Given the description of an element on the screen output the (x, y) to click on. 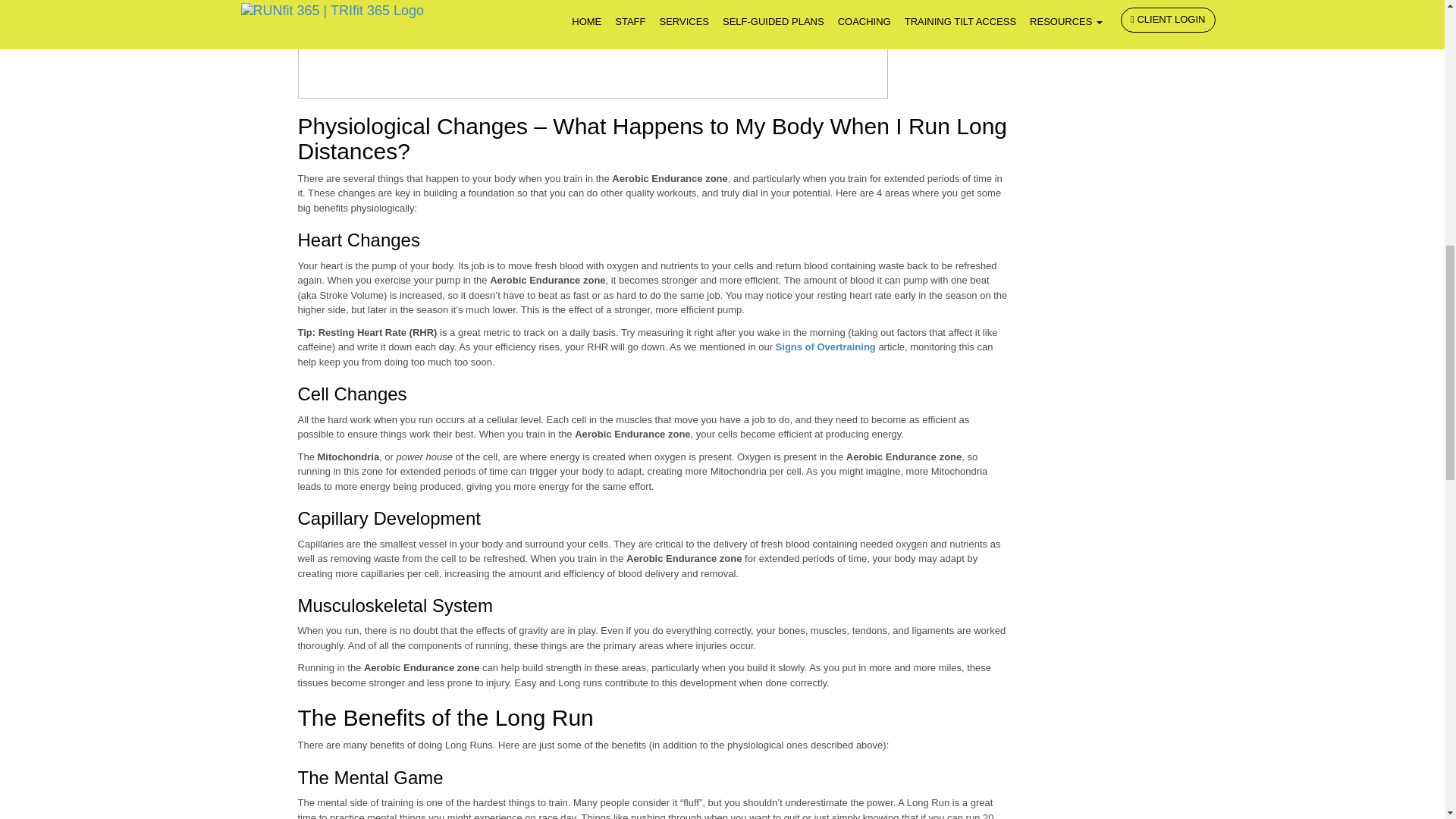
Signs of Overtraining (826, 346)
